Given the description of an element on the screen output the (x, y) to click on. 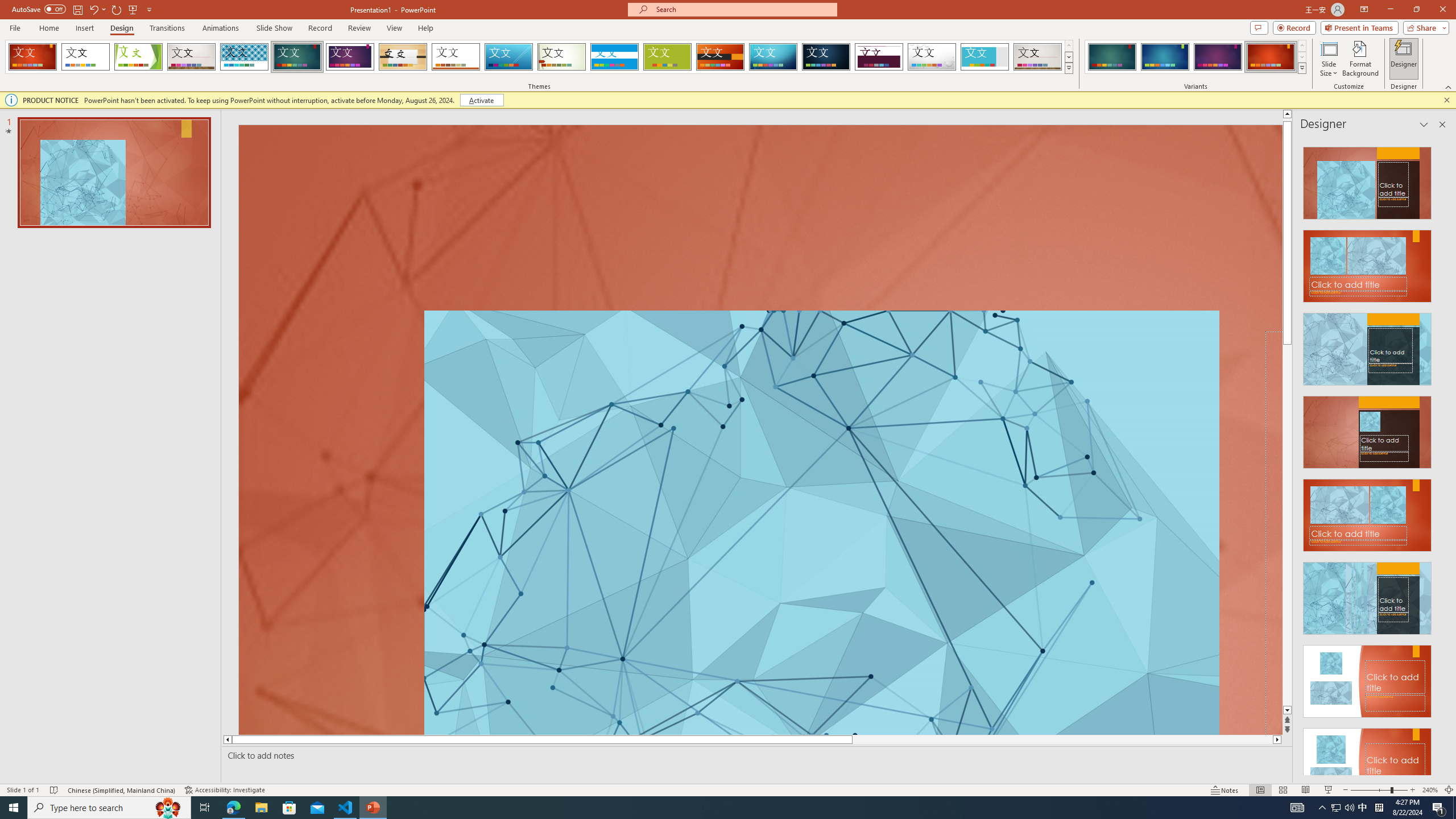
Retrospect (455, 56)
Ion Variant 4 (1270, 56)
Format Background (1360, 58)
AutomationID: ThemeVariantsGallery (1195, 56)
